Given the description of an element on the screen output the (x, y) to click on. 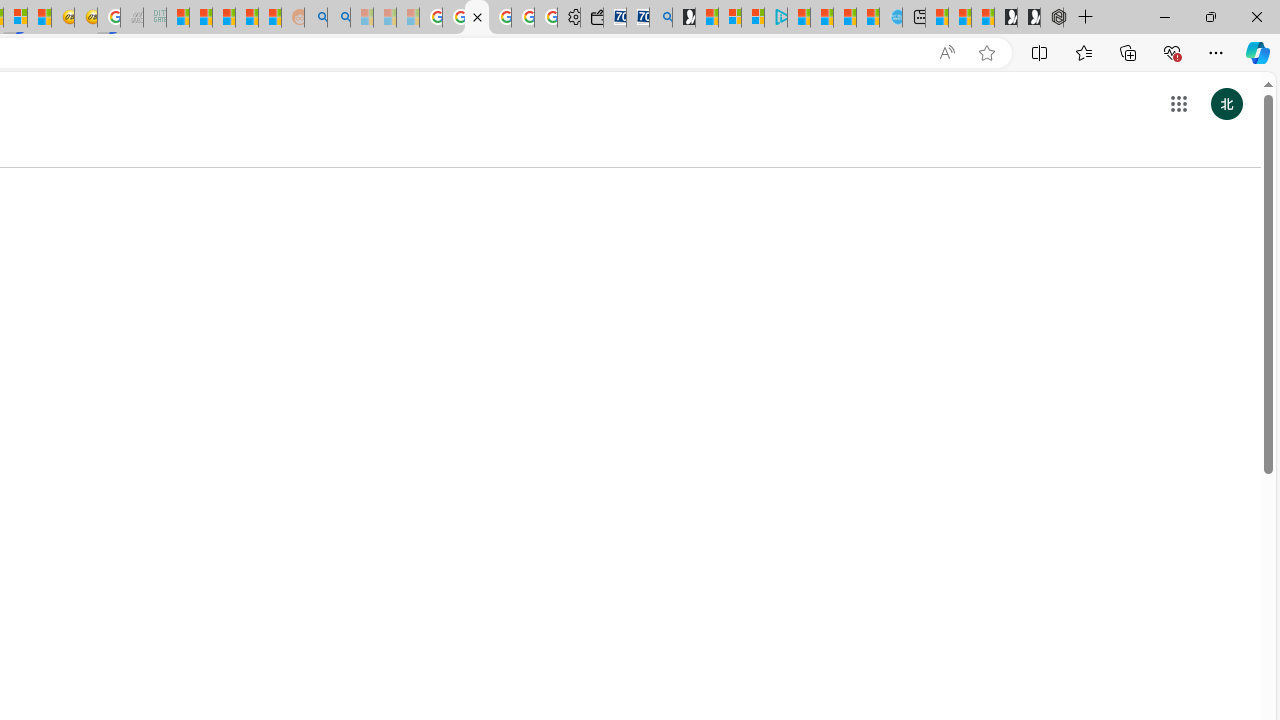
Utah sues federal government - Search (338, 17)
